Given the description of an element on the screen output the (x, y) to click on. 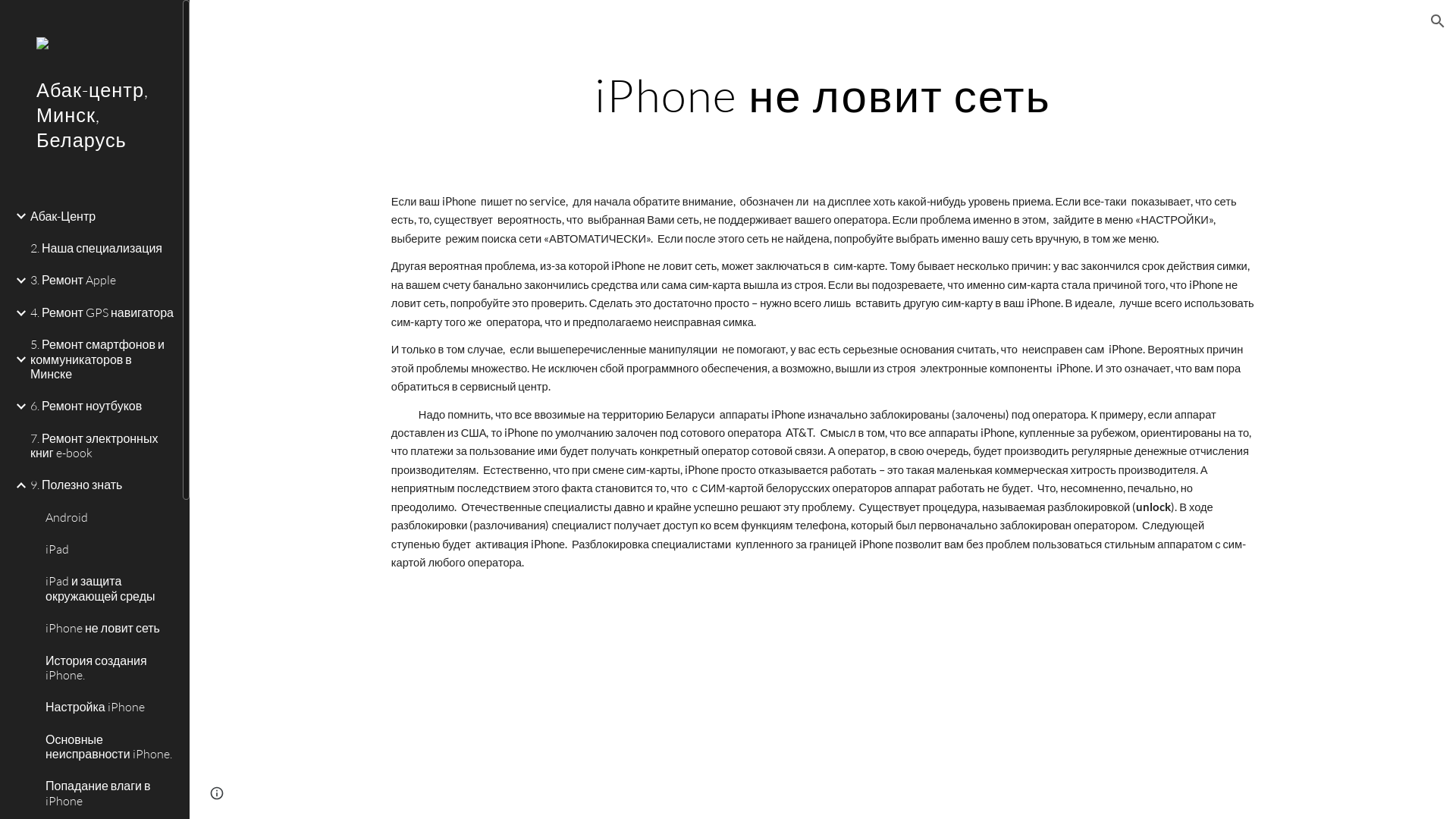
Expand/Collapse Element type: hover (16, 406)
Expand/Collapse Element type: hover (16, 216)
iPad Element type: text (107, 549)
Expand/Collapse Element type: hover (16, 485)
Expand/Collapse Element type: hover (16, 313)
Android Element type: text (107, 517)
Expand/Collapse Element type: hover (16, 359)
Expand/Collapse Element type: hover (16, 280)
